Given the description of an element on the screen output the (x, y) to click on. 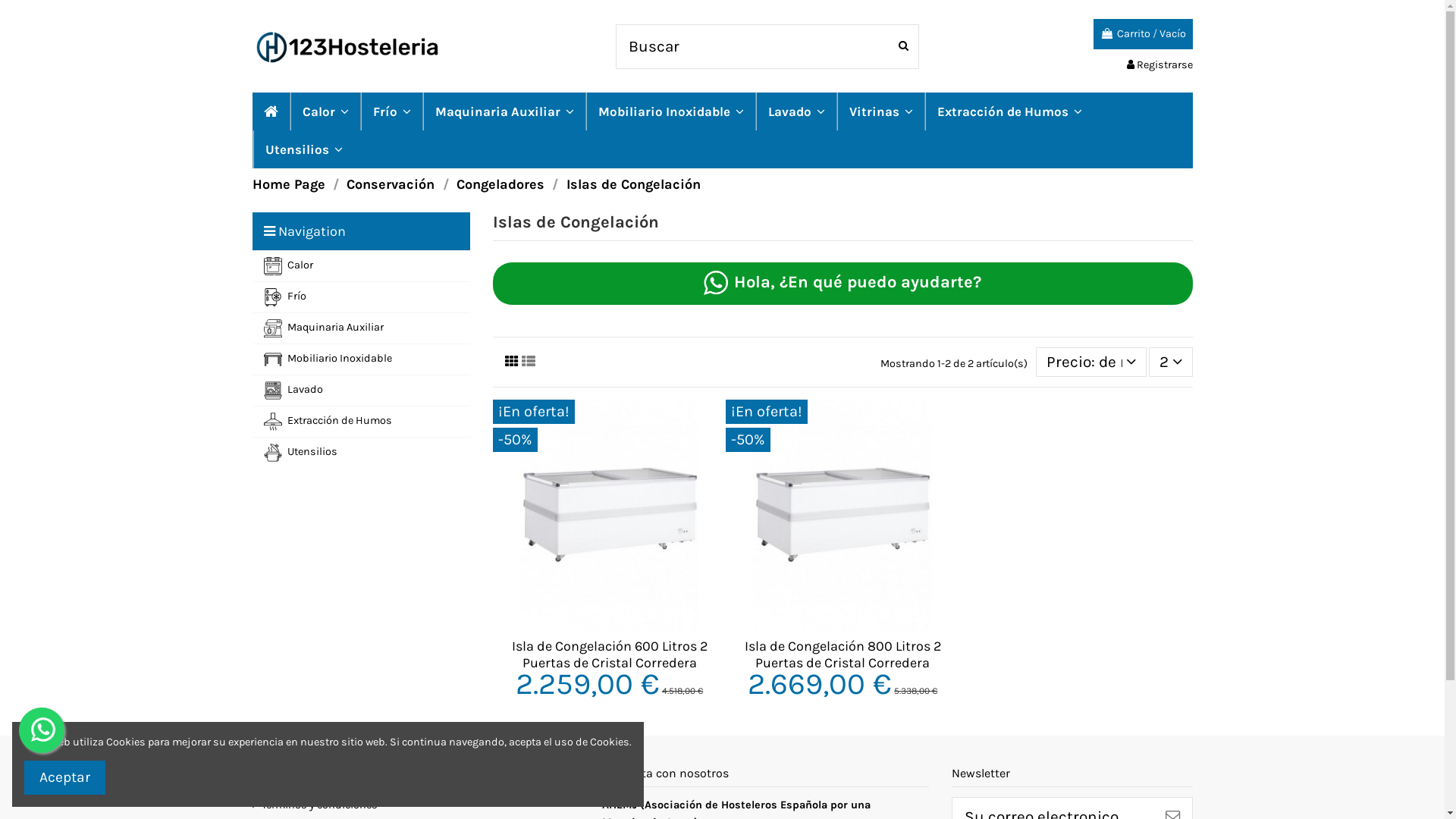
Calor Element type: text (360, 265)
2 Element type: text (1170, 362)
Utensilios Element type: text (302, 149)
Lavado Element type: text (360, 389)
Mobiliario Inoxidable Element type: text (670, 111)
Aceptar Element type: text (64, 777)
Mobiliario Inoxidable Element type: text (360, 358)
Vitrinas Element type: text (879, 111)
Maquinaria Auxiliar Element type: text (502, 111)
Home Page Element type: text (287, 184)
Calor Element type: text (324, 111)
Lavado Element type: text (795, 111)
Congeladores Element type: text (500, 183)
Maquinaria Auxiliar Element type: text (360, 327)
Registrarse Element type: text (1159, 64)
Utensilios Element type: text (360, 451)
